Given the description of an element on the screen output the (x, y) to click on. 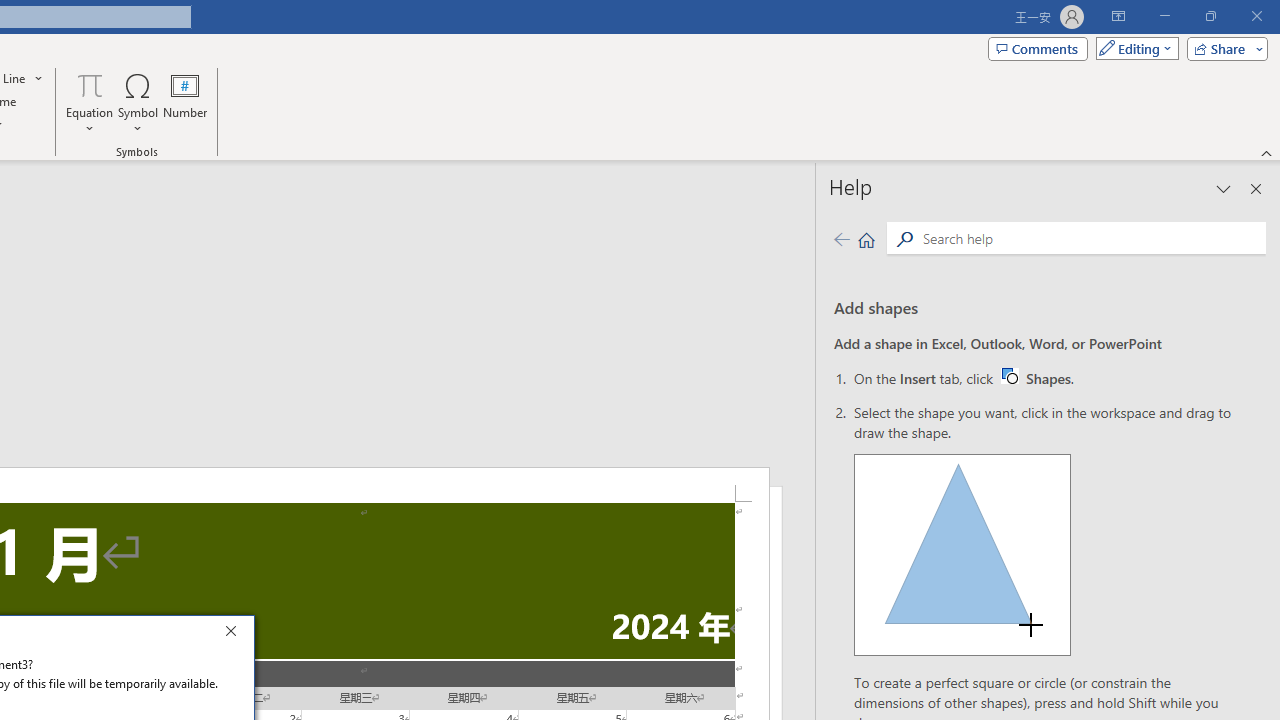
Word W32 Shapes button icon (1009, 375)
Previous page (1044, 377)
